Given the description of an element on the screen output the (x, y) to click on. 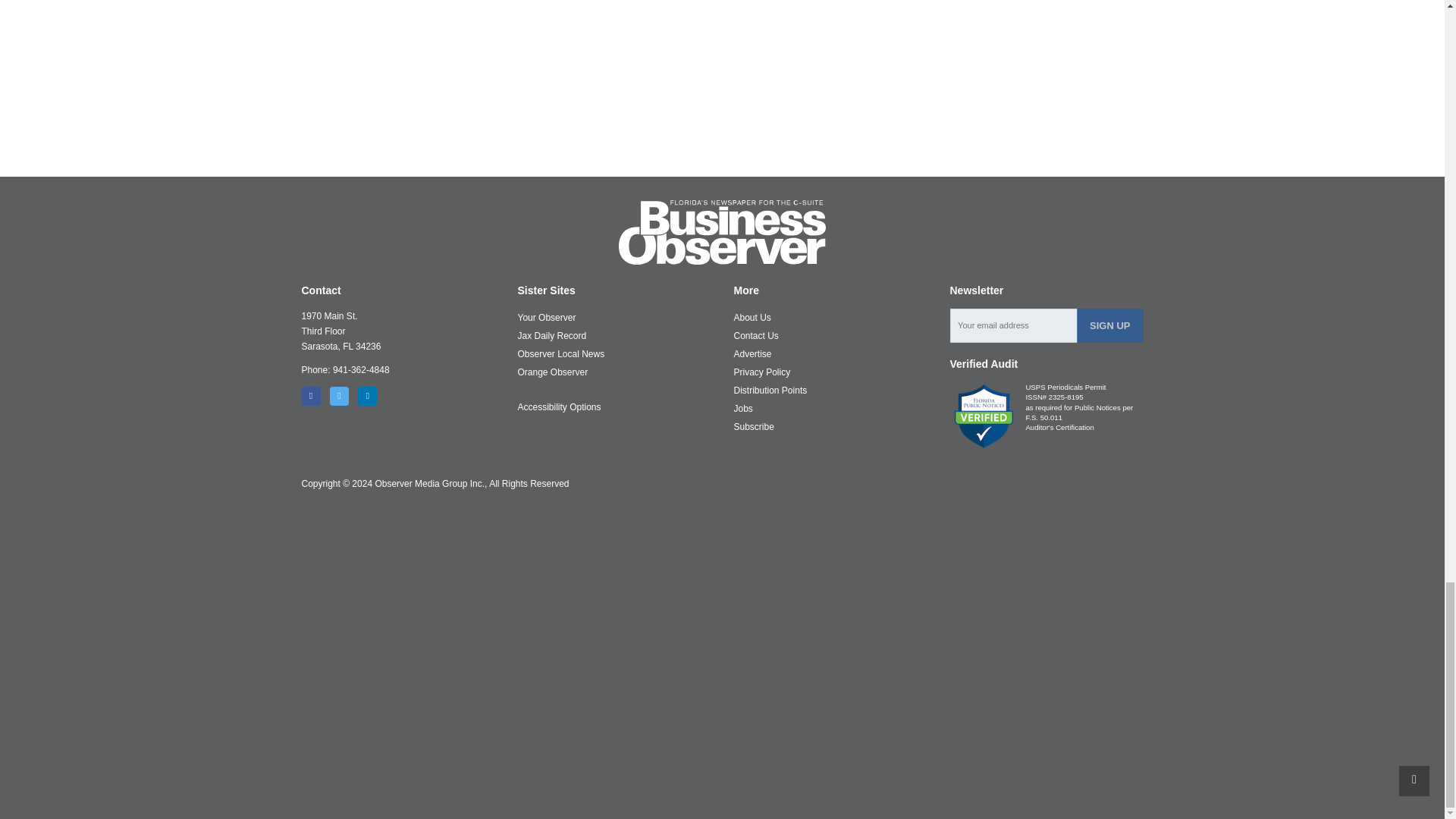
3rd party ad content (722, 121)
